Given the description of an element on the screen output the (x, y) to click on. 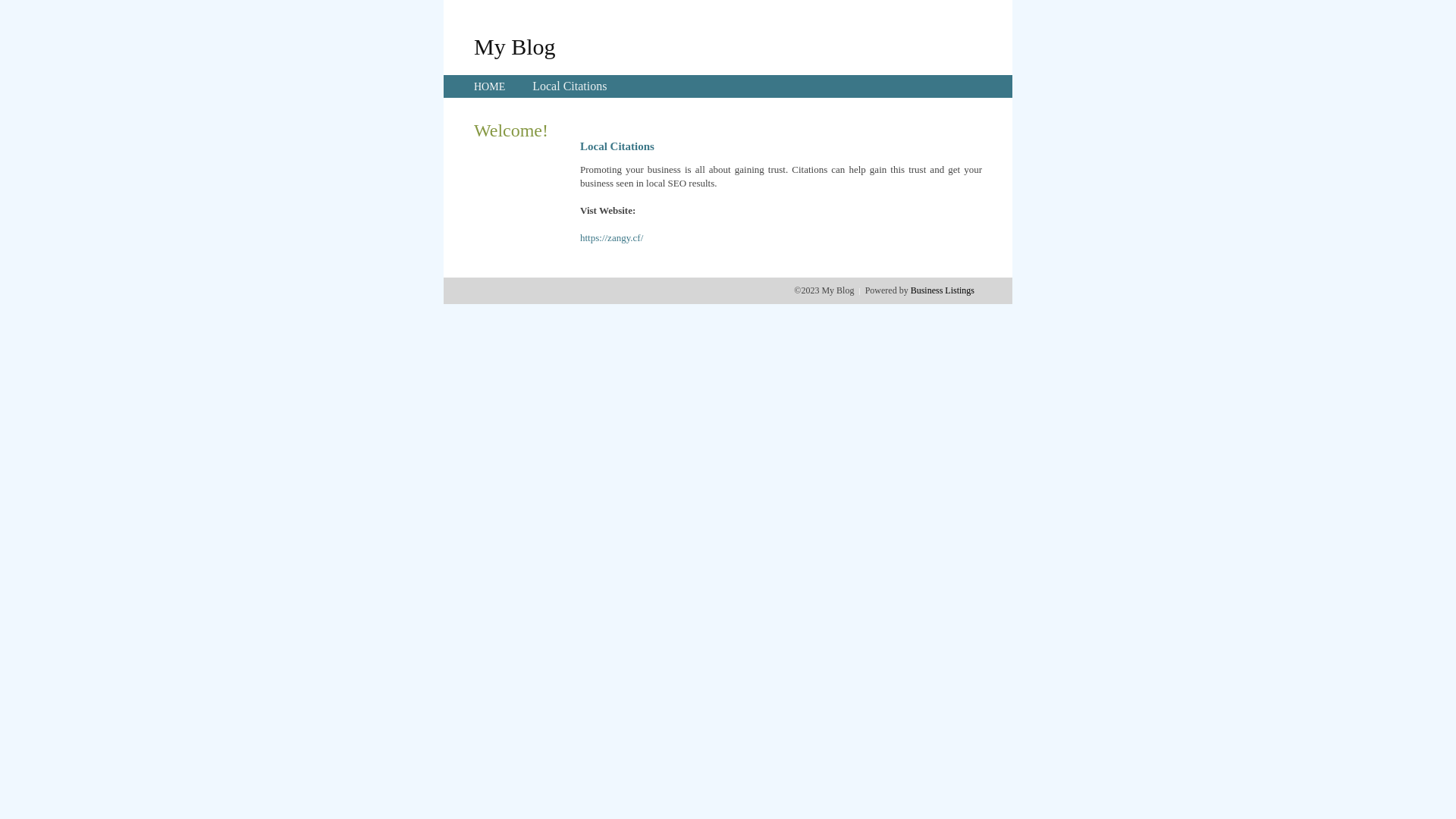
https://zangy.cf/ Element type: text (611, 237)
Local Citations Element type: text (569, 85)
HOME Element type: text (489, 86)
My Blog Element type: text (514, 46)
Business Listings Element type: text (942, 290)
